Given the description of an element on the screen output the (x, y) to click on. 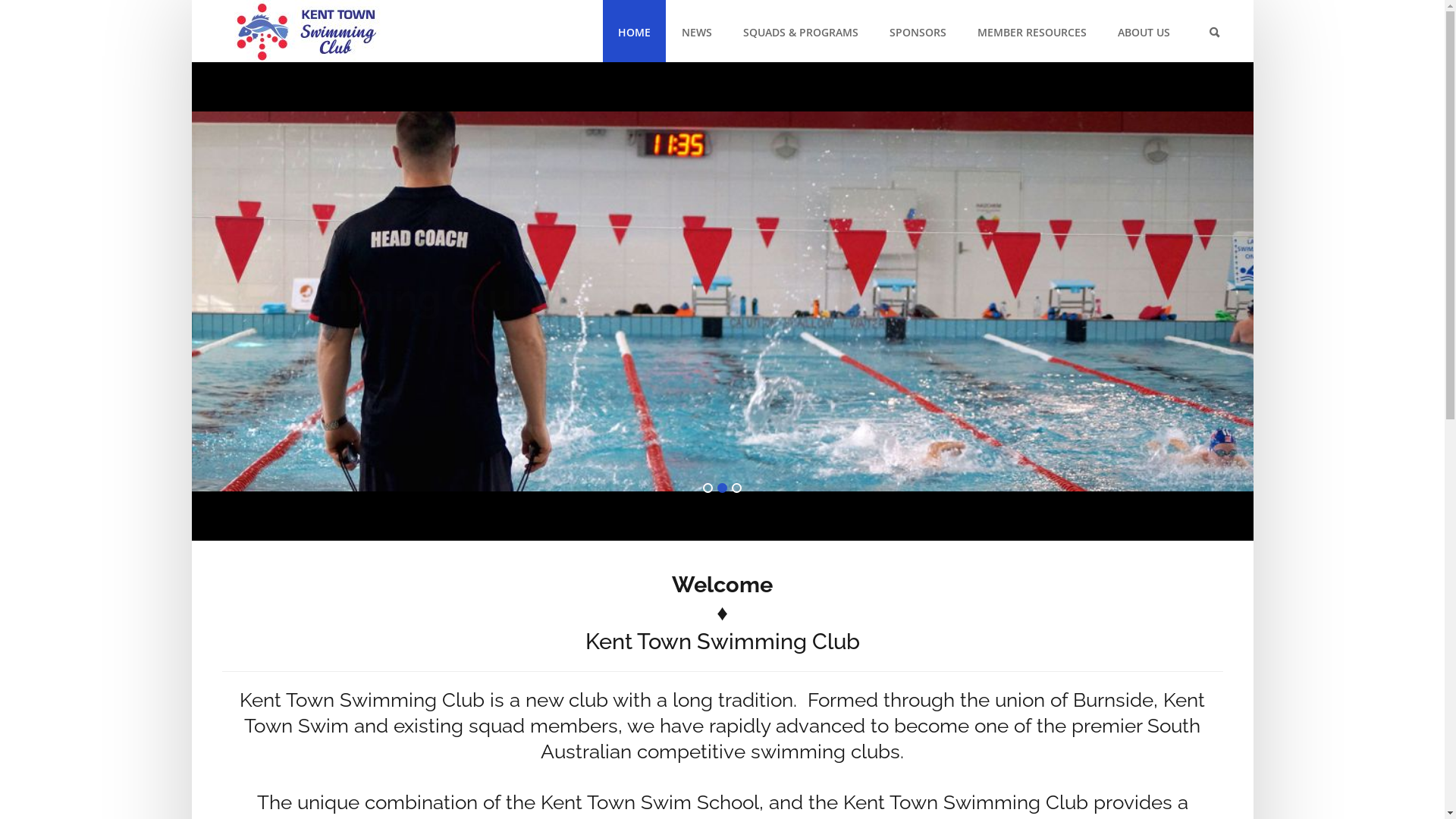
SQUADS & PROGRAMS Element type: text (800, 31)
NEWS Element type: text (695, 32)
MEMBER RESOURCES Element type: text (1030, 32)
HOME Element type: text (633, 31)
NEWS Element type: text (695, 31)
SQUADS & PROGRAMS Element type: text (800, 32)
HOME Element type: text (633, 32)
SPONSORS Element type: text (916, 32)
ABOUT US Element type: text (1143, 32)
MEMBER RESOURCES Element type: text (1030, 31)
ABOUT US Element type: text (1143, 31)
SPONSORS Element type: text (916, 31)
